Given the description of an element on the screen output the (x, y) to click on. 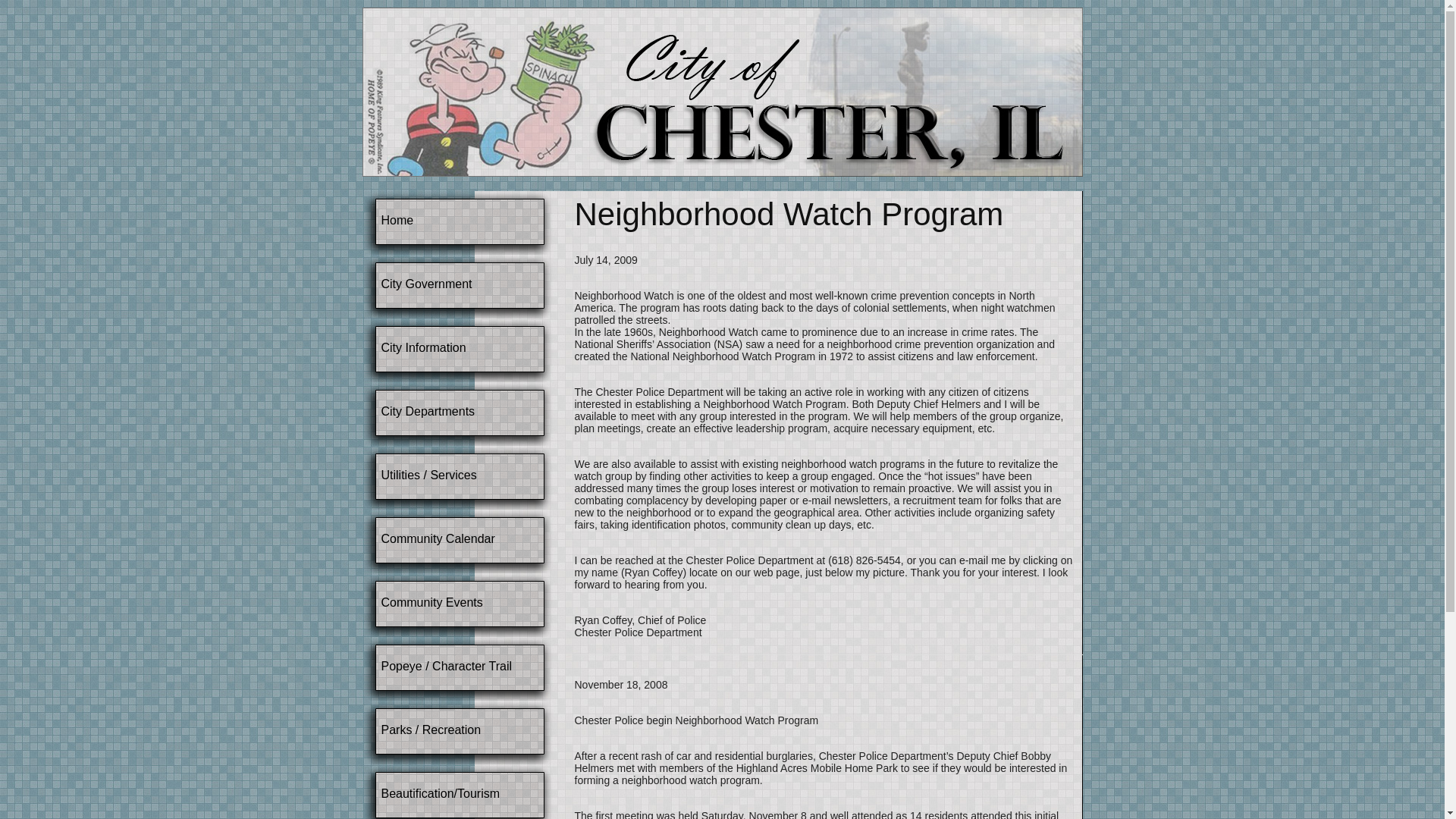
City Departments (427, 410)
City Information (422, 347)
Home (396, 219)
Community Events (430, 602)
City Government (425, 283)
Community Calendar (437, 538)
